Given the description of an element on the screen output the (x, y) to click on. 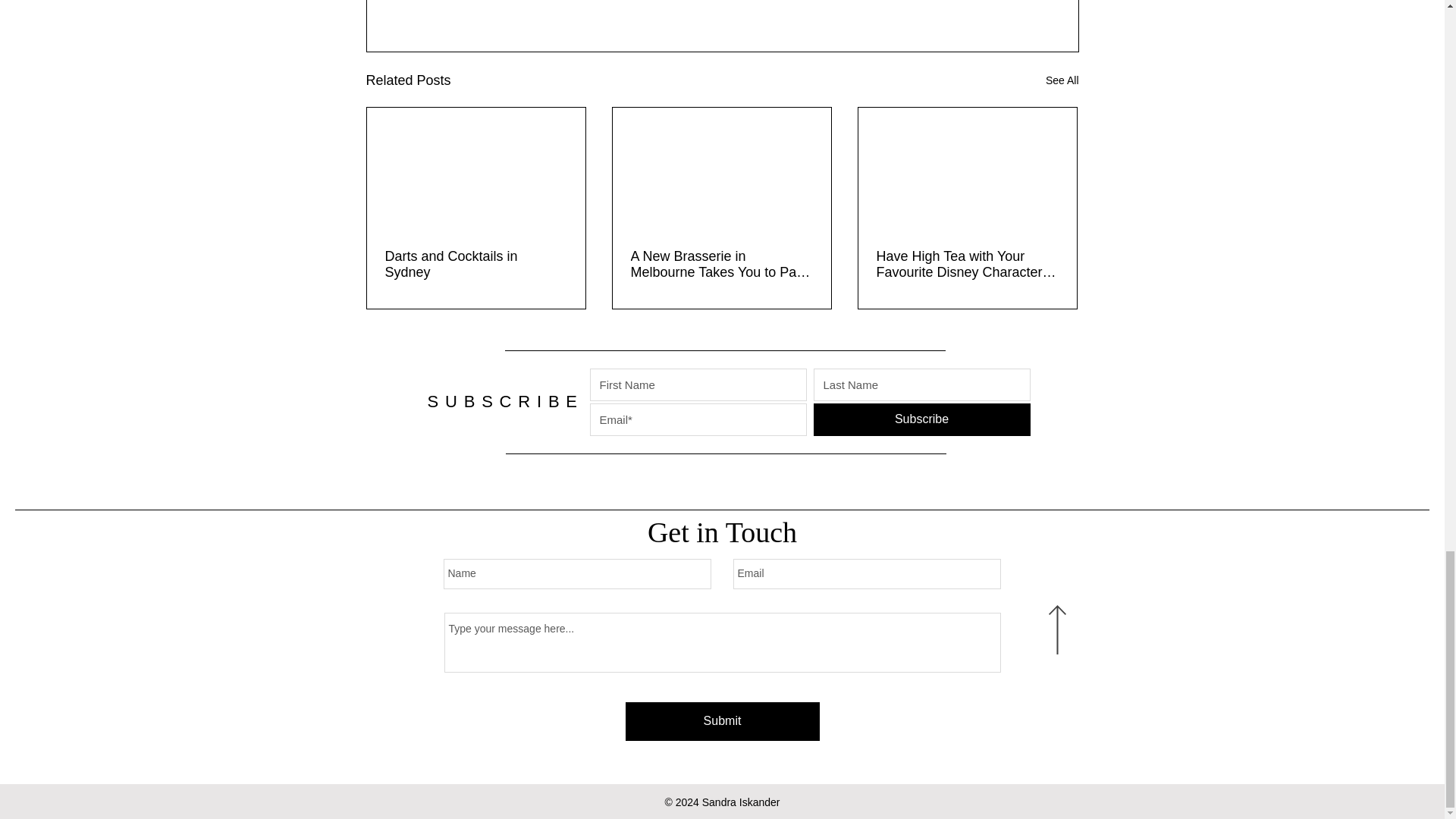
Subscribe (920, 419)
A New Brasserie in Melbourne Takes You to Paris for Lunch (721, 264)
Submit (721, 721)
Darts and Cocktails in Sydney (476, 264)
See All (1061, 80)
